Given the description of an element on the screen output the (x, y) to click on. 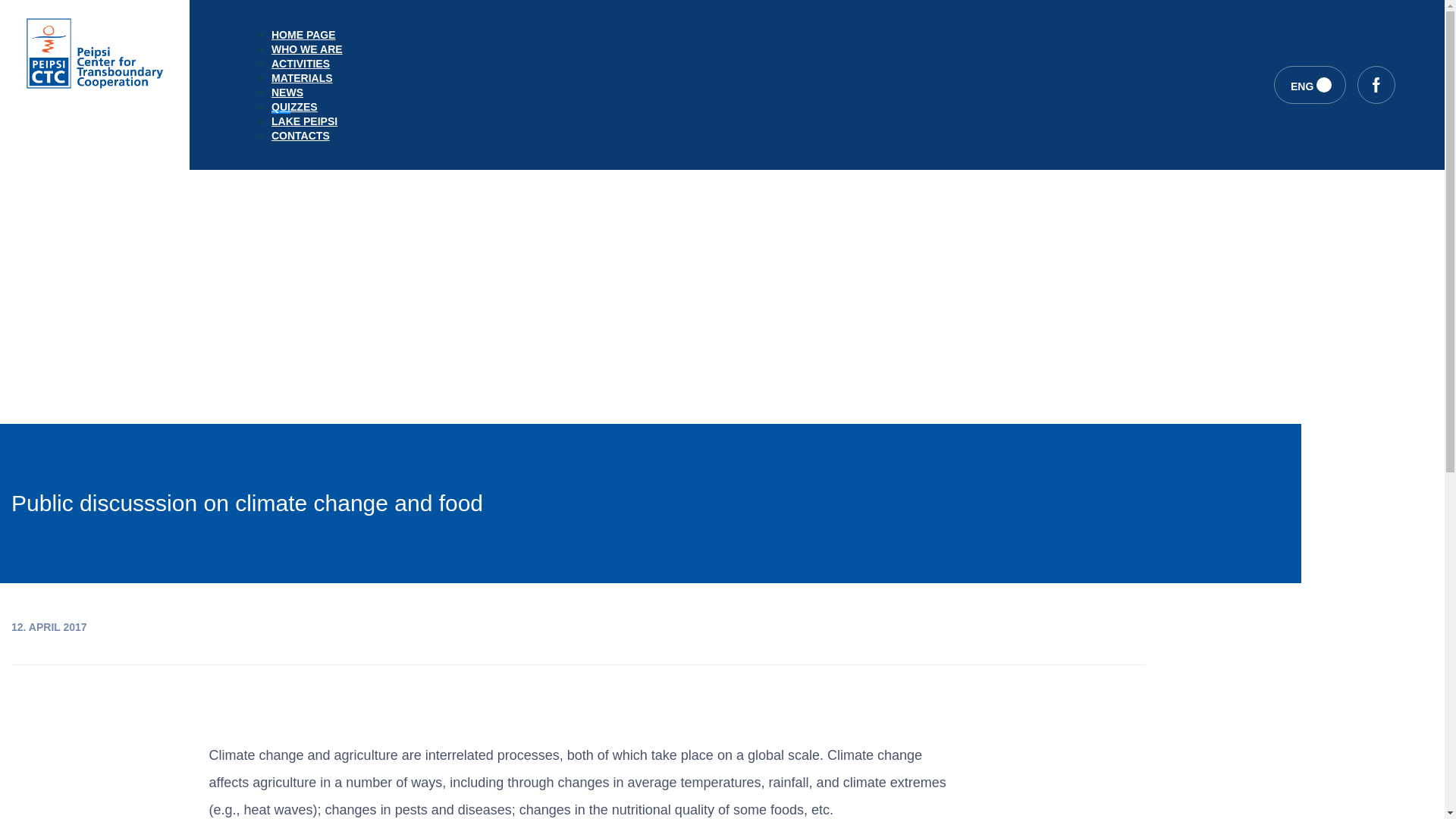
QUIZZES (306, 106)
HOME PAGE (306, 34)
MATERIALS (306, 78)
CONTACTS (306, 135)
ACTIVITIES (306, 63)
NEWS (306, 92)
WHO WE ARE (306, 49)
LAKE PEIPSI (306, 121)
